Given the description of an element on the screen output the (x, y) to click on. 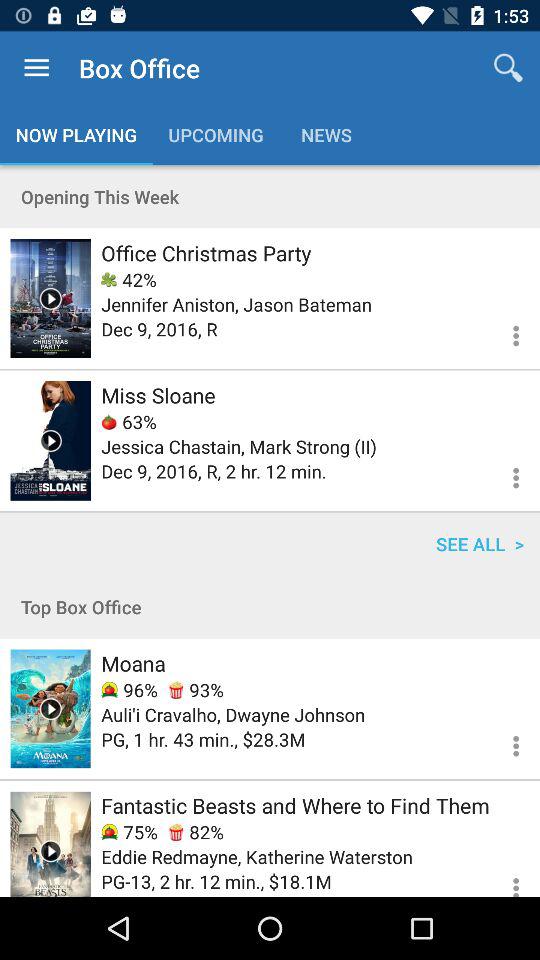
choose app next to the box office item (36, 68)
